Given the description of an element on the screen output the (x, y) to click on. 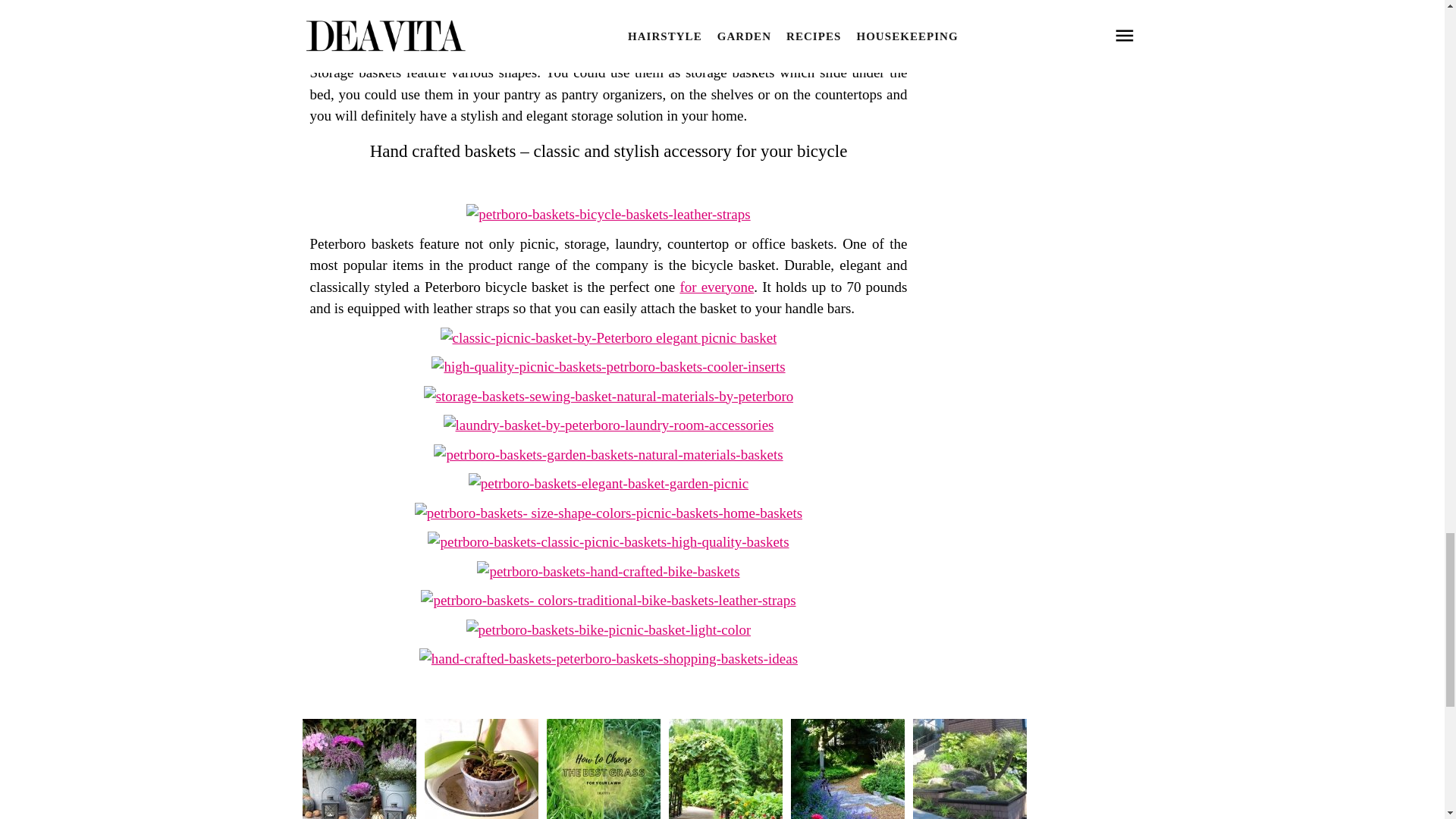
Petrboro-baskets-bicycle-baskets-leather-straps (607, 213)
Step stool ideas for toddlers and adults (716, 286)
High-quality-picnic-baskets-petrboro-baskets-cooler-inserts (607, 366)
Classic-picnic-basket-by-Peterboro elegant picnic basket (609, 337)
